Given the description of an element on the screen output the (x, y) to click on. 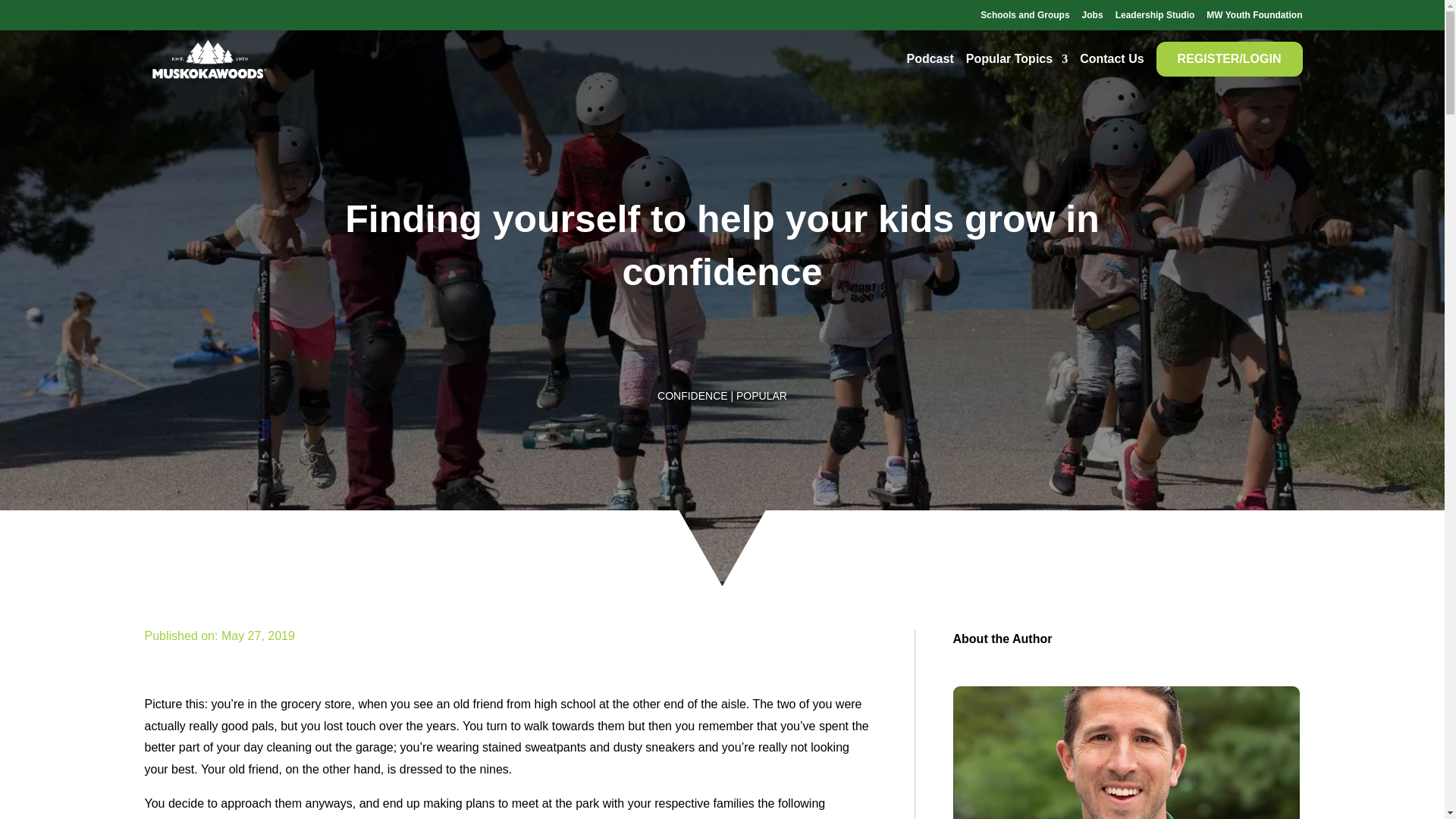
Contact Us (1111, 58)
Schools and Groups (1023, 17)
POPULAR (761, 395)
Leadership Studio (1155, 17)
Popular Topics (1016, 58)
CONFIDENCE (693, 395)
Jobs (1092, 17)
MW Youth Foundation (1254, 17)
